Given the description of an element on the screen output the (x, y) to click on. 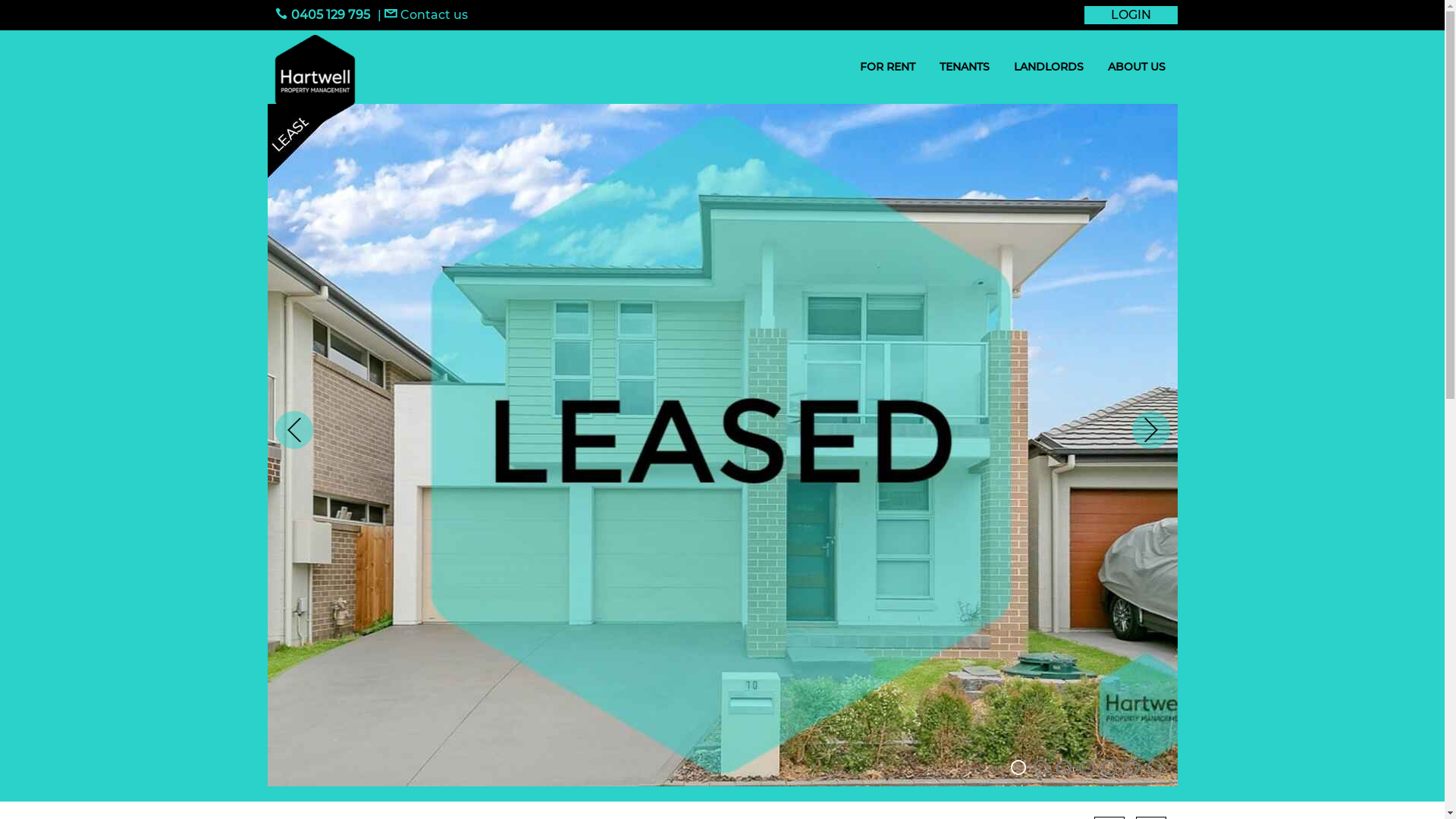
4 Element type: text (1085, 767)
3 Element type: text (1062, 767)
6 Element type: text (1131, 767)
FOR RENT Element type: text (887, 66)
TENANTS Element type: text (963, 66)
1 Element type: text (1017, 767)
5 Element type: text (1108, 767)
ABOUT US Element type: text (1135, 66)
Contact us Element type: text (425, 14)
LOGIN Element type: text (1130, 15)
LANDLORDS Element type: text (1048, 66)
7 Element type: text (1153, 767)
0405 129 795 Element type: text (321, 14)
2 Element type: text (1040, 767)
